Given the description of an element on the screen output the (x, y) to click on. 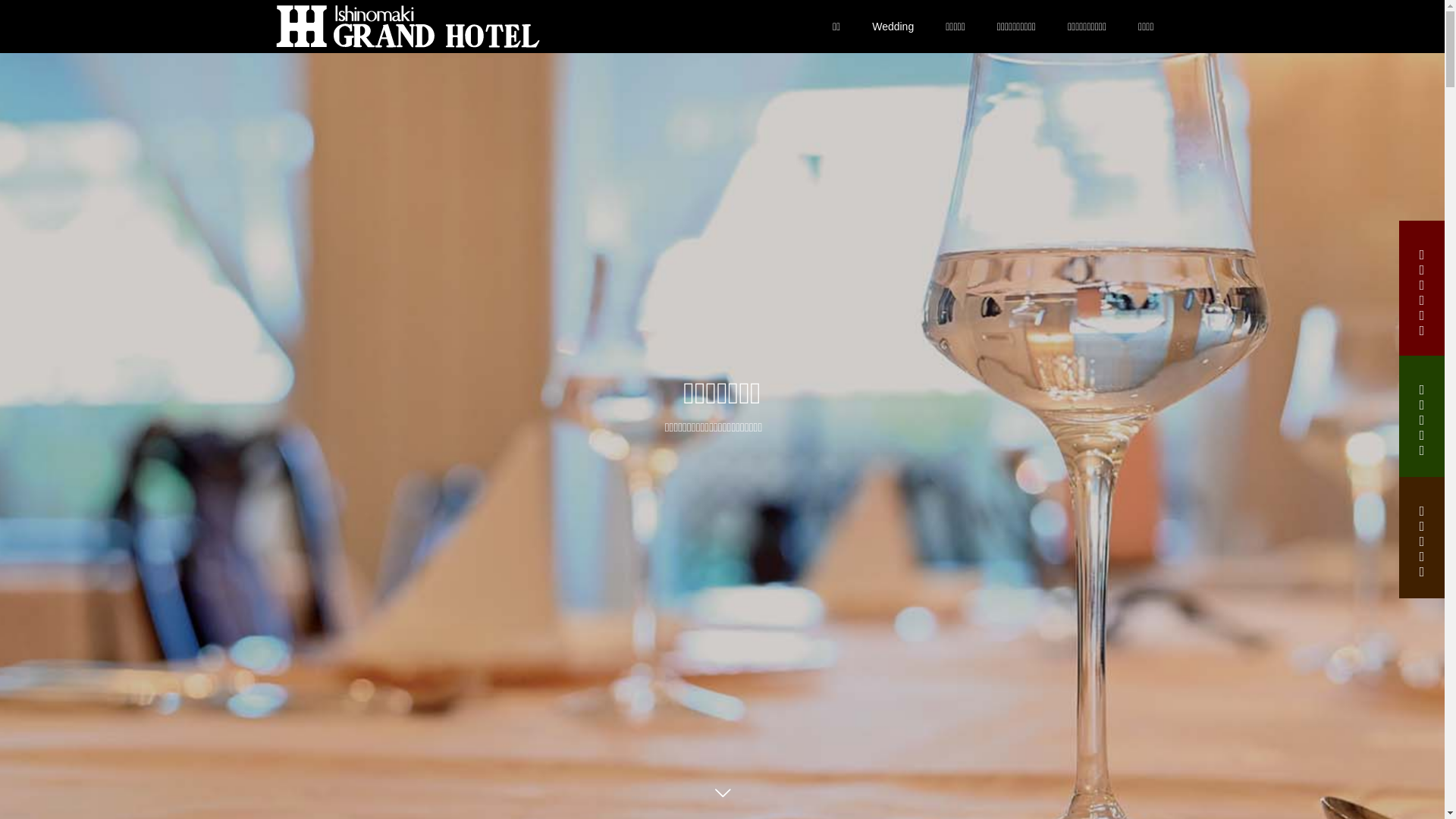
Wedding Element type: text (892, 26)
